Given the description of an element on the screen output the (x, y) to click on. 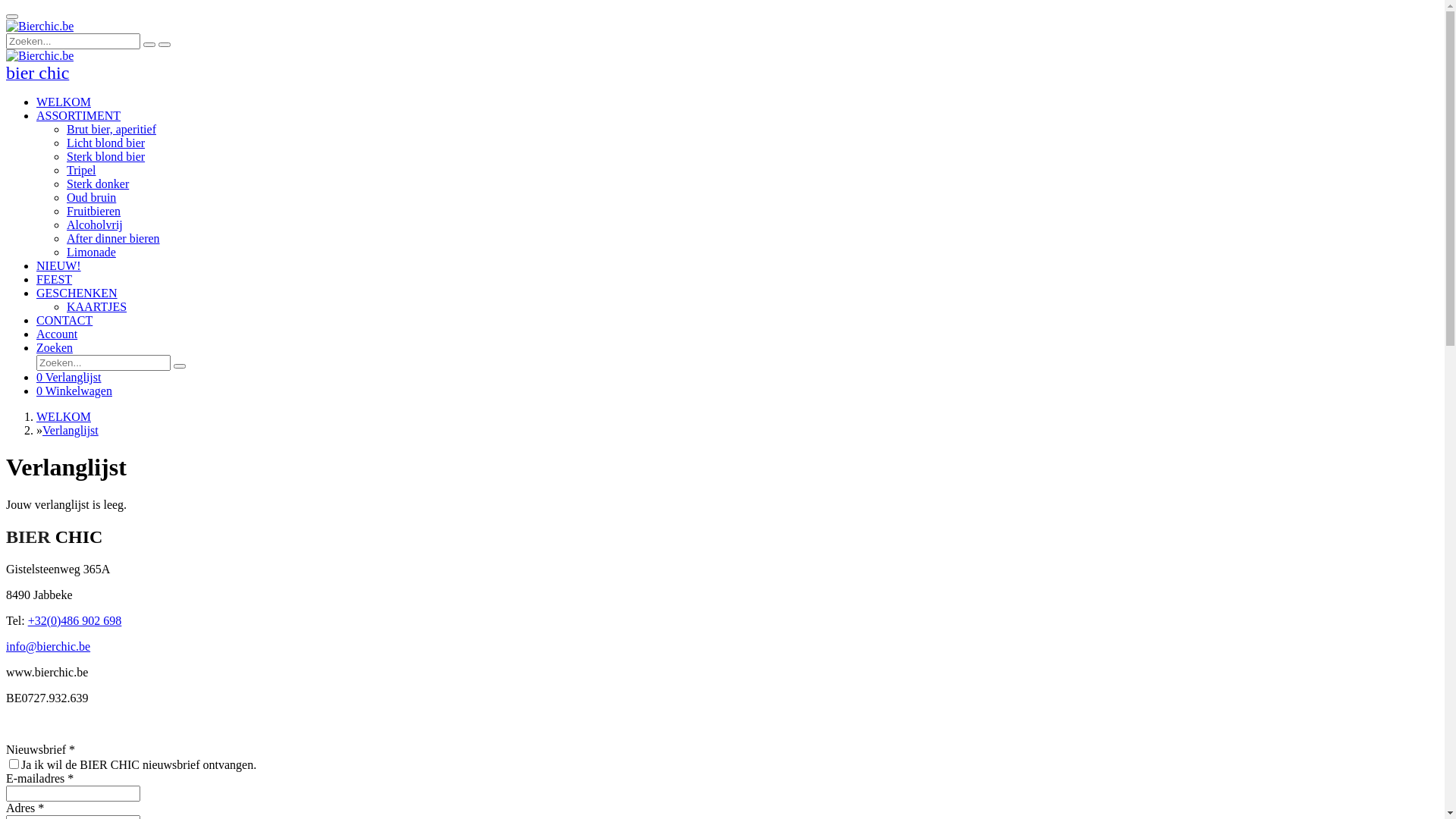
Bierchic.be Element type: hover (39, 55)
GESCHENKEN Element type: text (76, 292)
bier chic Element type: text (37, 74)
Zoeken Element type: text (54, 347)
0 Winkelwagen Element type: text (74, 390)
Verlanglijst Element type: text (70, 429)
Bierchic.be Element type: hover (39, 26)
FEEST Element type: text (54, 279)
0 Verlanglijst Element type: text (68, 376)
Sterk donker Element type: text (97, 183)
WELKOM Element type: text (63, 416)
Alcoholvrij Element type: text (94, 224)
Licht blond bier Element type: text (105, 142)
KAARTJES Element type: text (96, 306)
Tripel Element type: text (81, 169)
Sterk blond bier Element type: text (105, 156)
Brut bier, aperitief Element type: text (111, 128)
ASSORTIMENT Element type: text (78, 115)
+32(0)486 902 698 Element type: text (75, 620)
After dinner bieren Element type: text (113, 238)
Limonade Element type: text (91, 251)
Fruitbieren Element type: text (93, 210)
WELKOM Element type: text (63, 101)
Oud bruin Element type: text (91, 197)
CONTACT Element type: text (64, 319)
NIEUW! Element type: text (58, 265)
Account Element type: text (56, 333)
info@bierchic.be Element type: text (48, 646)
